Given the description of an element on the screen output the (x, y) to click on. 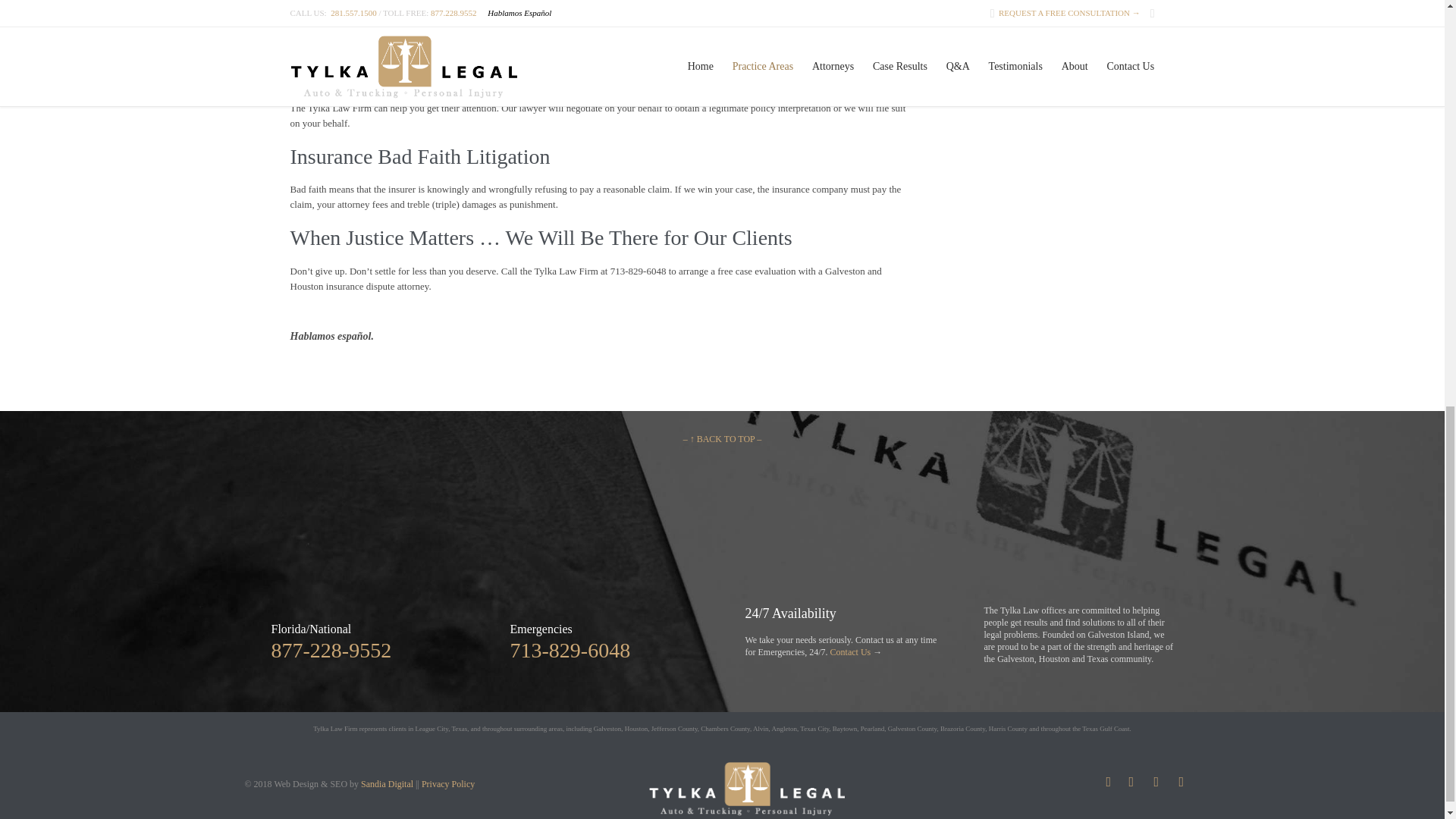
Send (1009, 56)
